Given the description of an element on the screen output the (x, y) to click on. 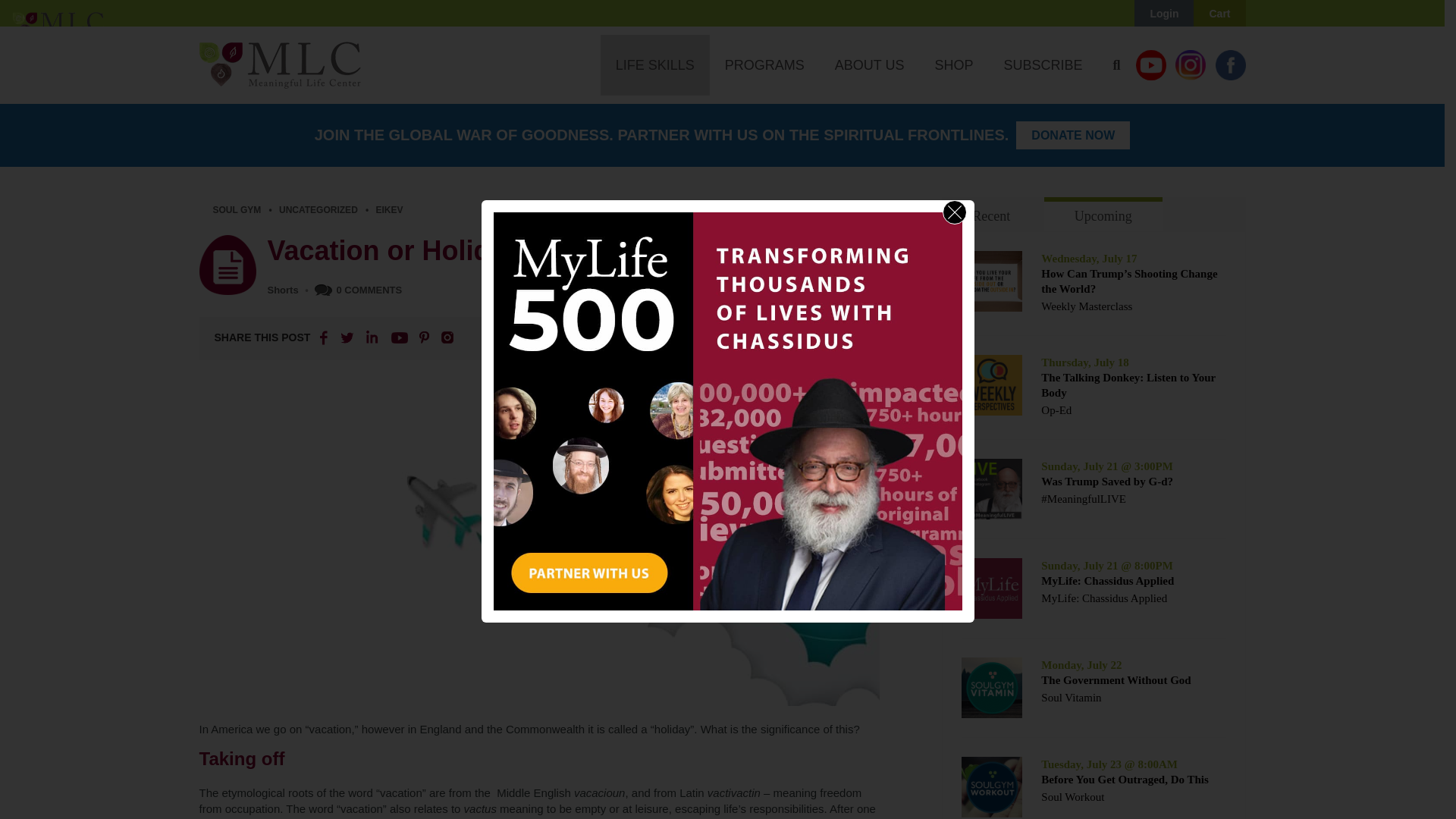
Login (1163, 13)
LIFE SKILLS (654, 65)
PROGRAMS (764, 65)
Cart (1218, 13)
